Given the description of an element on the screen output the (x, y) to click on. 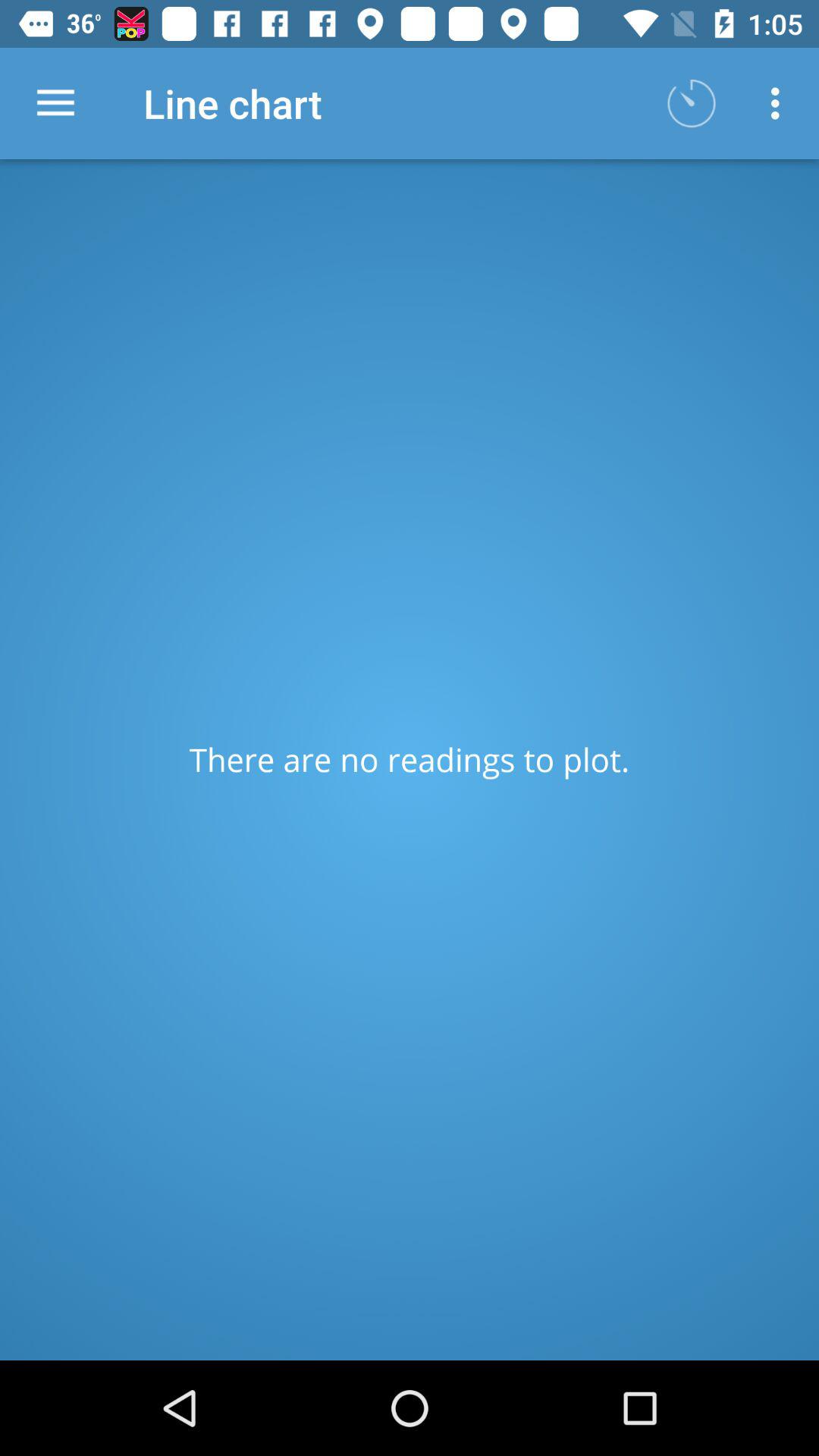
turn on item to the left of line chart item (55, 103)
